Given the description of an element on the screen output the (x, y) to click on. 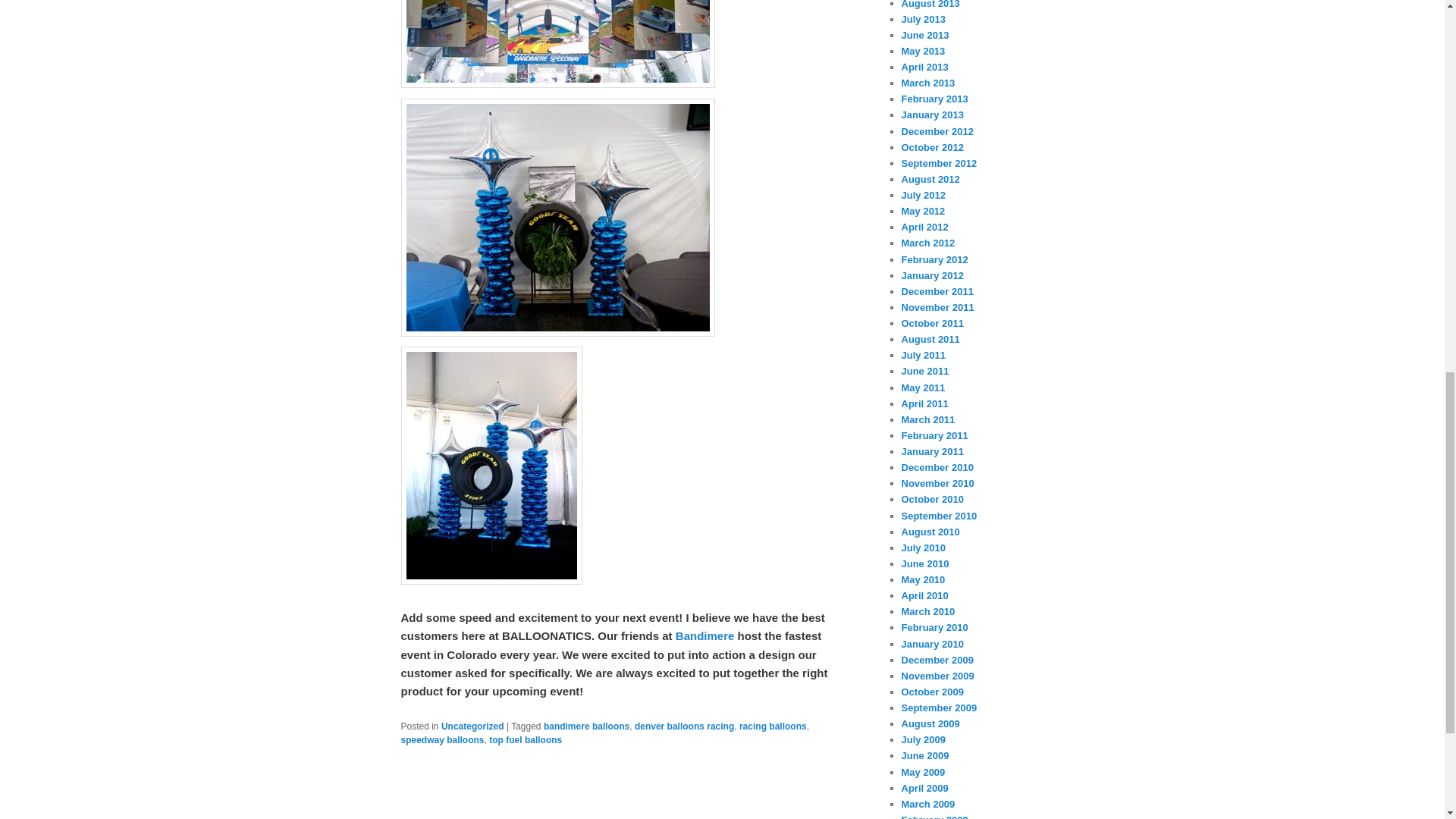
racing balloons (772, 726)
bandimere balloons (585, 726)
speedway balloons (441, 739)
denver balloons racing (683, 726)
Uncategorized (472, 726)
top fuel balloons (525, 739)
Bandimere (705, 635)
